Given the description of an element on the screen output the (x, y) to click on. 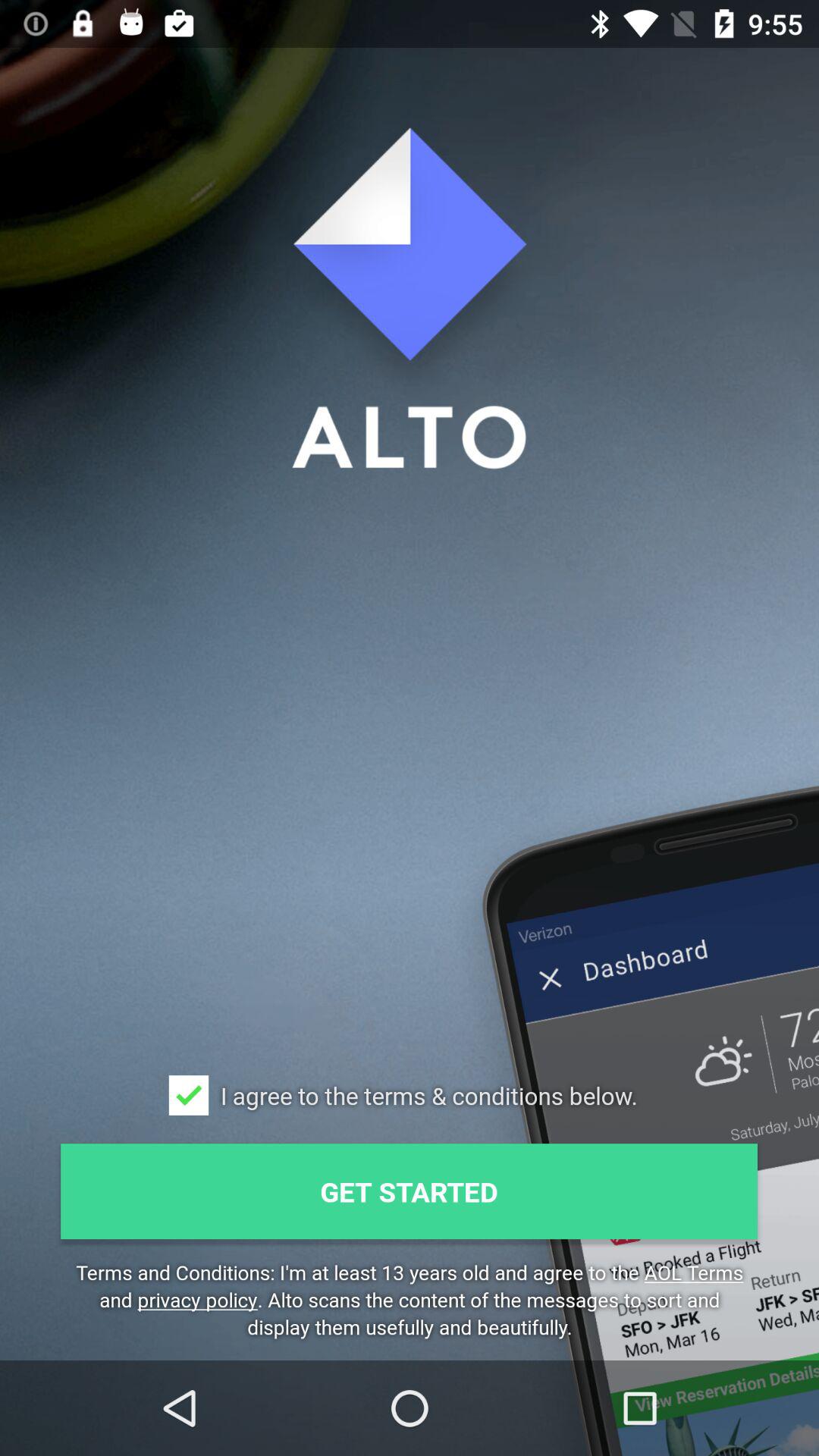
scroll to get started (408, 1191)
